Given the description of an element on the screen output the (x, y) to click on. 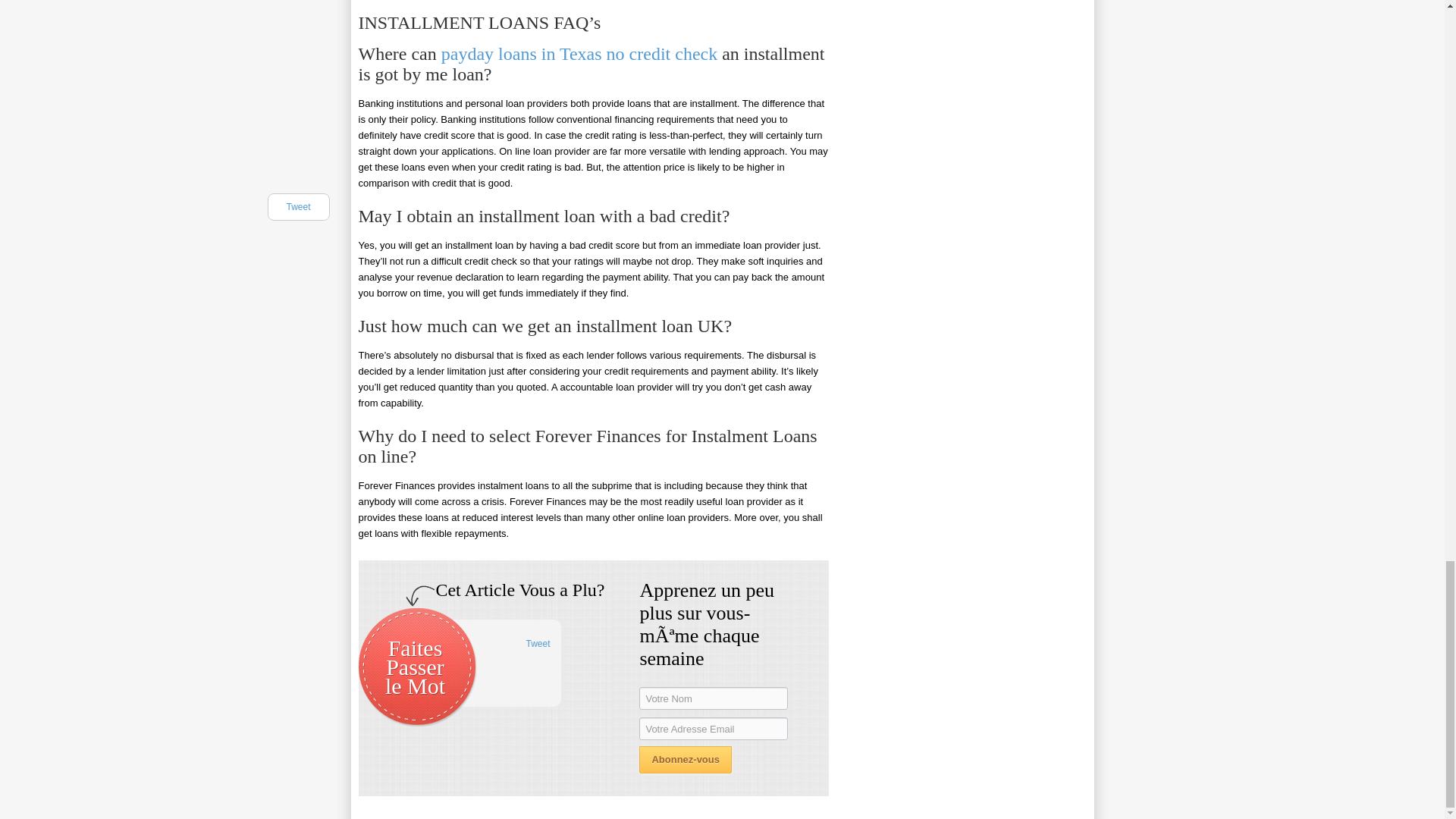
payday loans in Texas no credit check (579, 53)
Abonnez-vous (685, 759)
Tweet (537, 643)
Abonnez-vous (685, 759)
